Given the description of an element on the screen output the (x, y) to click on. 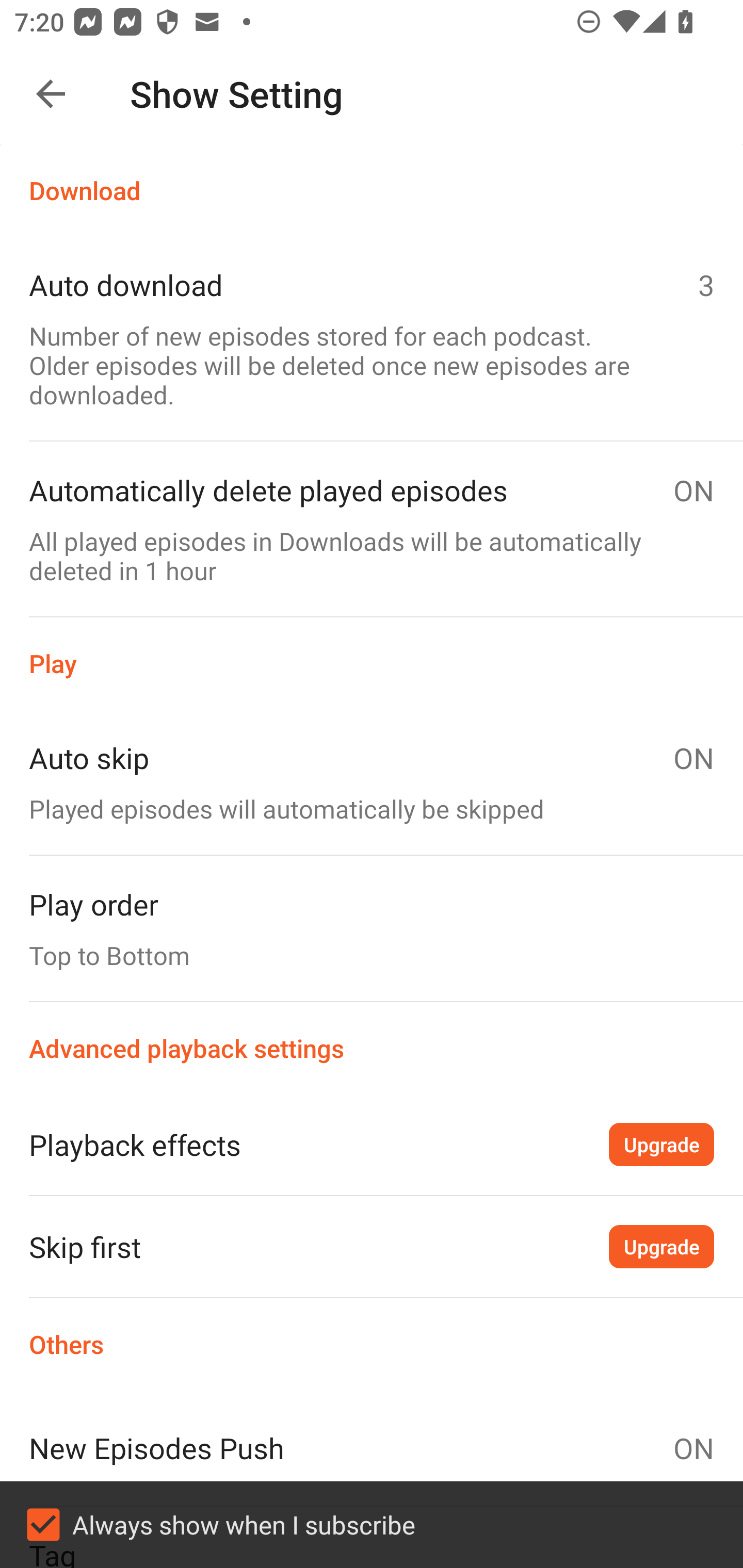
Navigate up (50, 93)
Play order Top to Bottom (371, 928)
Playback effects Upgrade (371, 1144)
Skip first Upgrade (371, 1246)
New Episodes Push ON (371, 1447)
Always show when I subscribe (371, 1524)
